Given the description of an element on the screen output the (x, y) to click on. 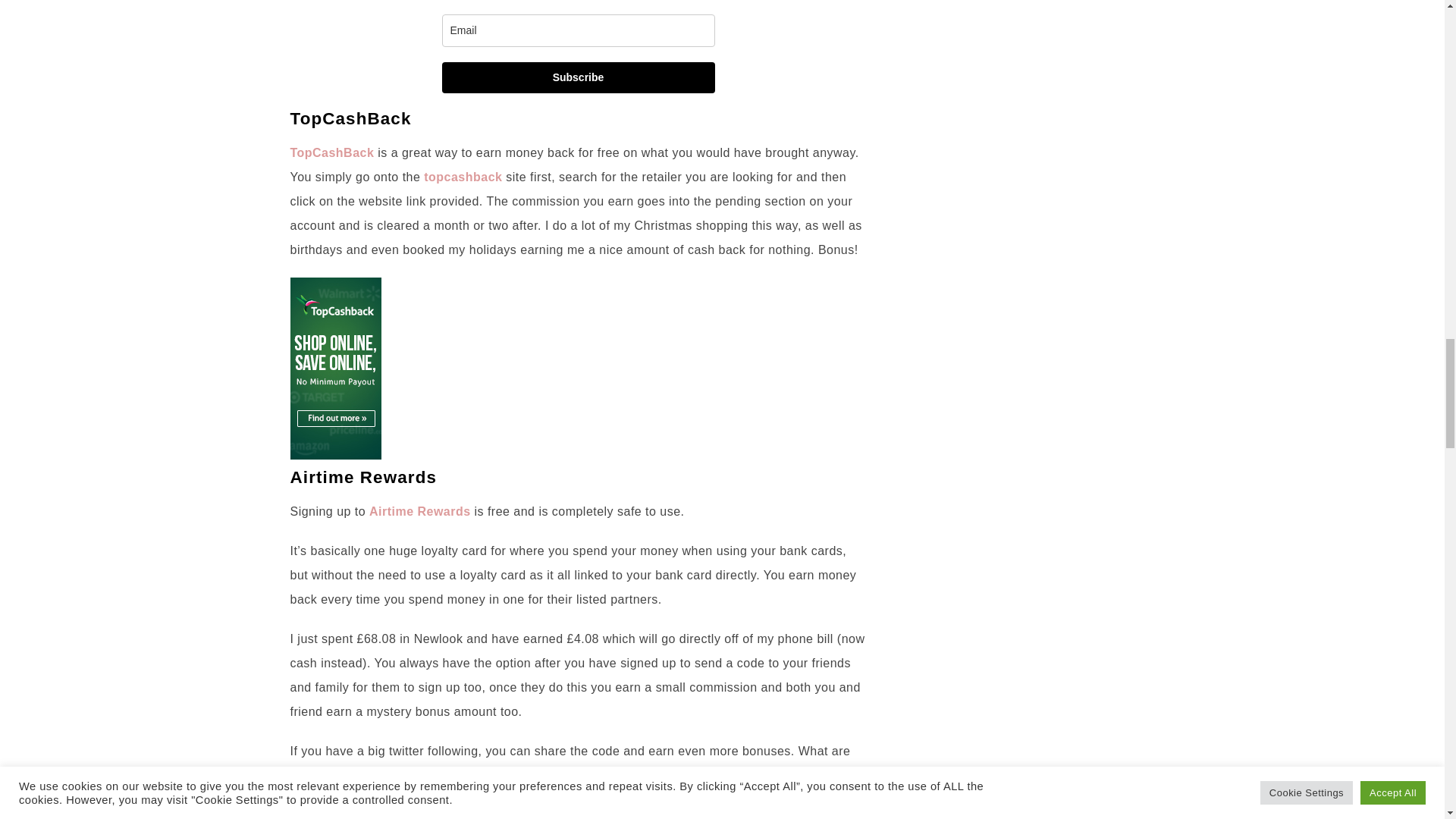
Subscribe (577, 77)
TopCashBack (331, 152)
Airtime Rewards (419, 511)
topcashback (462, 176)
